Given the description of an element on the screen output the (x, y) to click on. 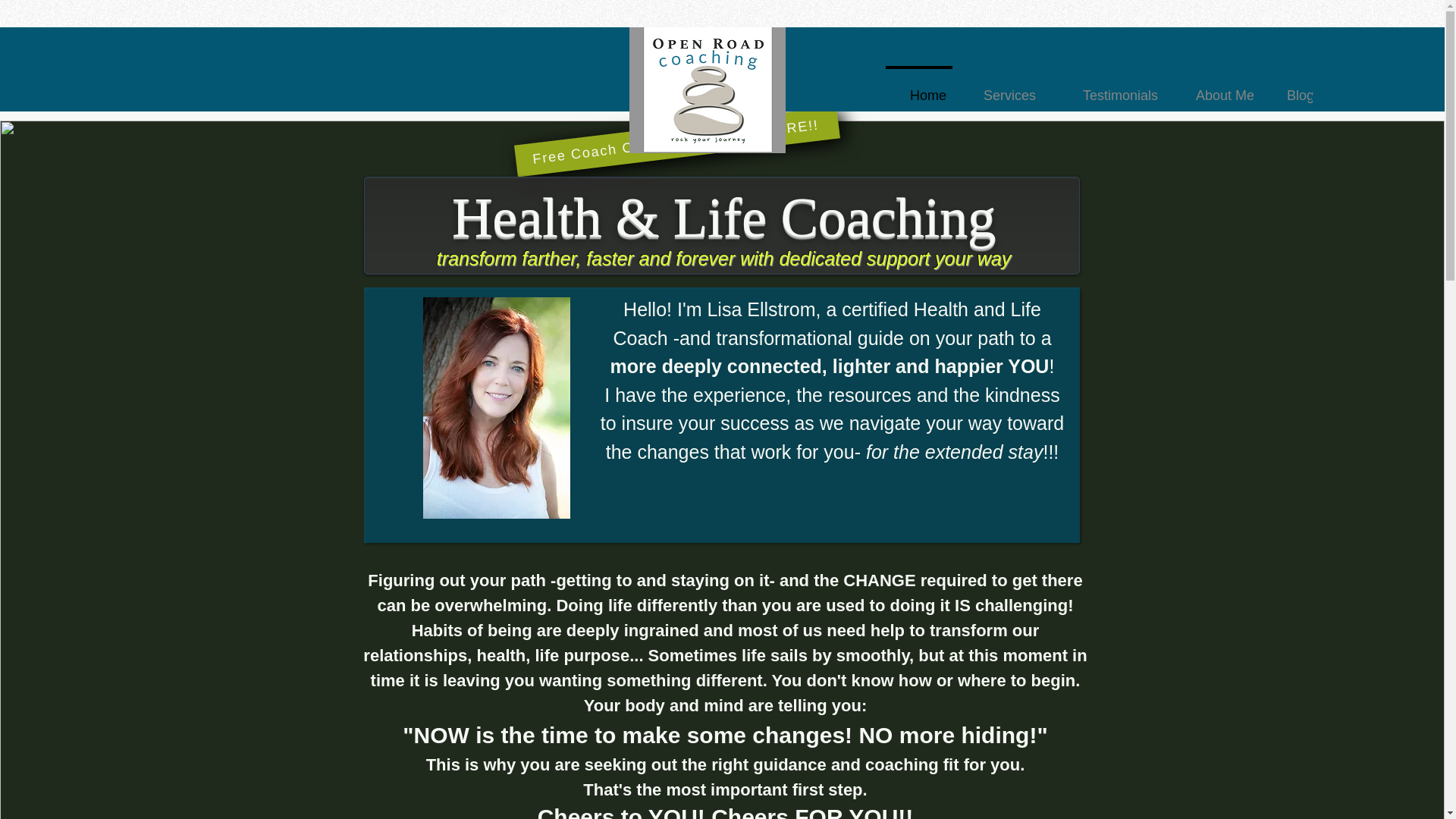
Services (999, 89)
Home (919, 89)
Testimonials (1104, 89)
Free Coach Consultation! Click HERE!! (675, 122)
About Me (1214, 89)
Blog (1292, 89)
Log In (1331, 97)
